Given the description of an element on the screen output the (x, y) to click on. 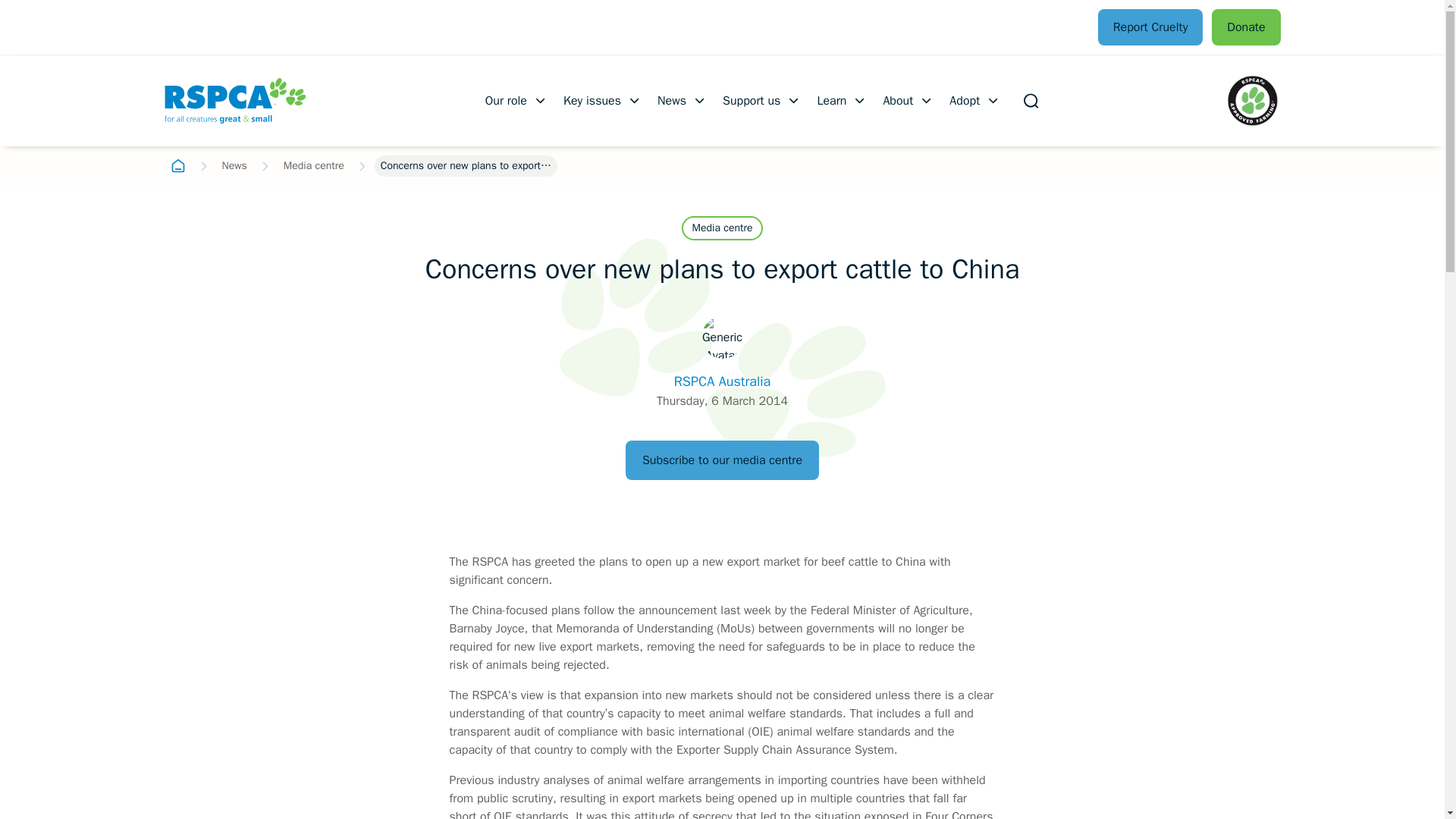
Donate (1245, 27)
News (682, 100)
Adopt (975, 100)
Learn (841, 100)
Report Cruelty (1150, 27)
News (233, 165)
Support us (762, 100)
Home (176, 165)
Concerns over new plans to export cattle to China (465, 165)
Key issues (602, 100)
Our role (516, 100)
Media centre (314, 165)
About (908, 100)
